Given the description of an element on the screen output the (x, y) to click on. 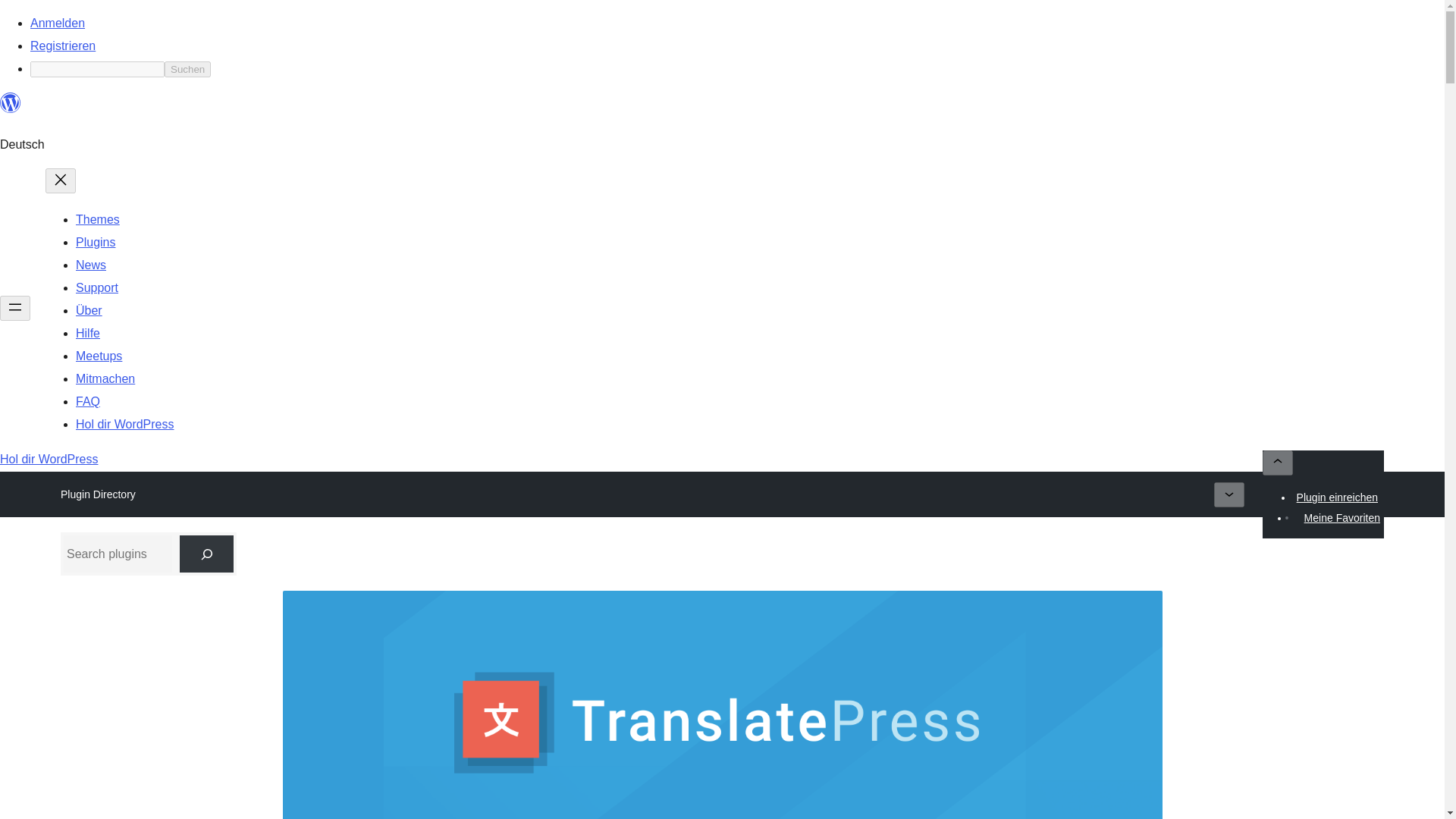
Hol dir WordPress (49, 459)
Anmelden (57, 22)
Registrieren (63, 45)
Meine Favoriten (1342, 517)
Themes (97, 219)
Hol dir WordPress (124, 423)
WordPress.org (10, 109)
WordPress.org (10, 102)
Plugin Directory (97, 494)
Support (96, 287)
Plugin einreichen (1336, 496)
News (90, 264)
Meetups (98, 355)
Hilfe (87, 332)
